Given the description of an element on the screen output the (x, y) to click on. 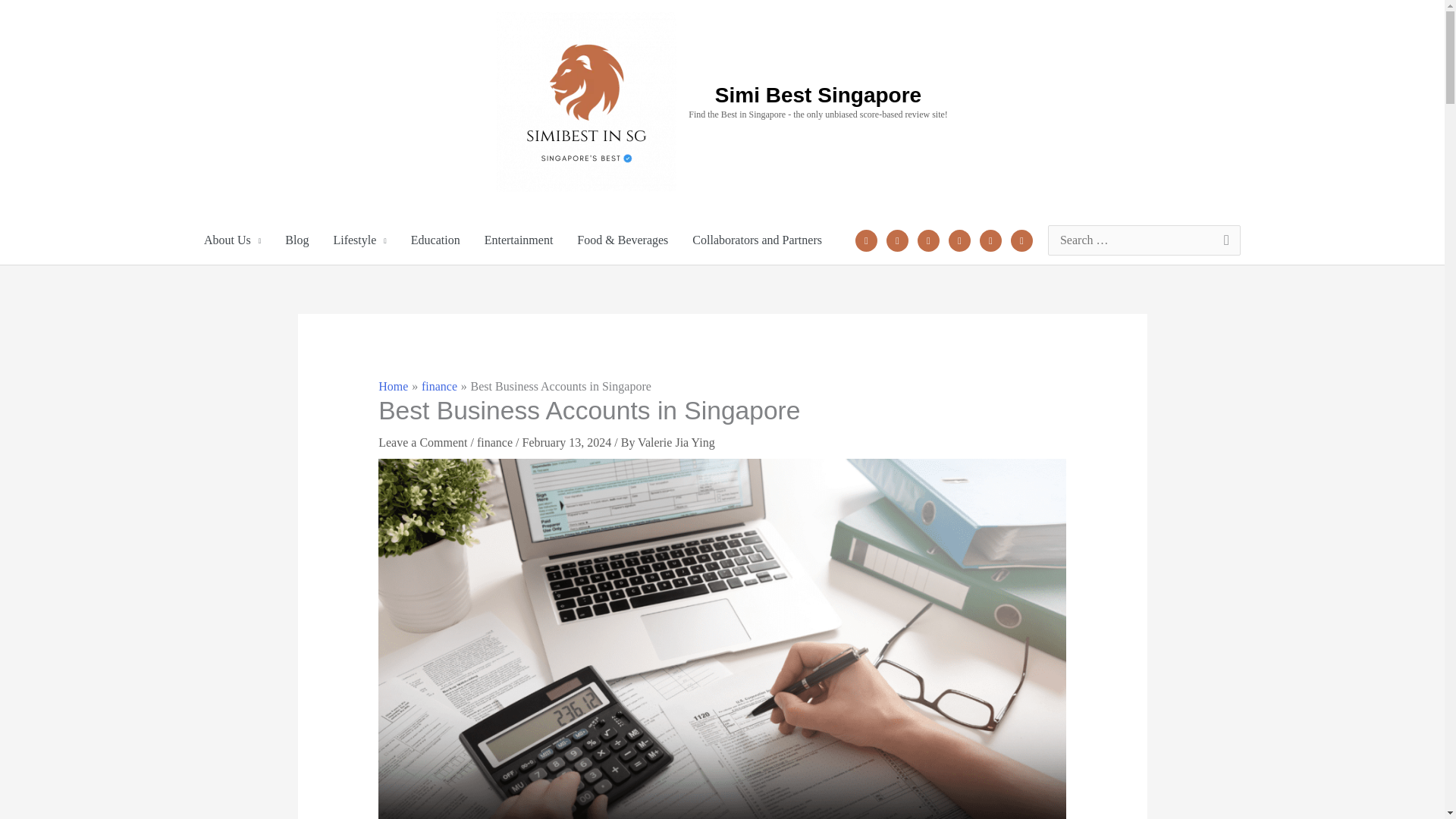
pinterest (960, 238)
Entertainment (518, 240)
tiktok (1021, 238)
Home (392, 386)
Simi Best Singapore (817, 95)
View all posts by Valerie Jia Ying (675, 441)
youtube (990, 238)
Instagram (928, 238)
finance (439, 386)
Facebook (866, 238)
